Given the description of an element on the screen output the (x, y) to click on. 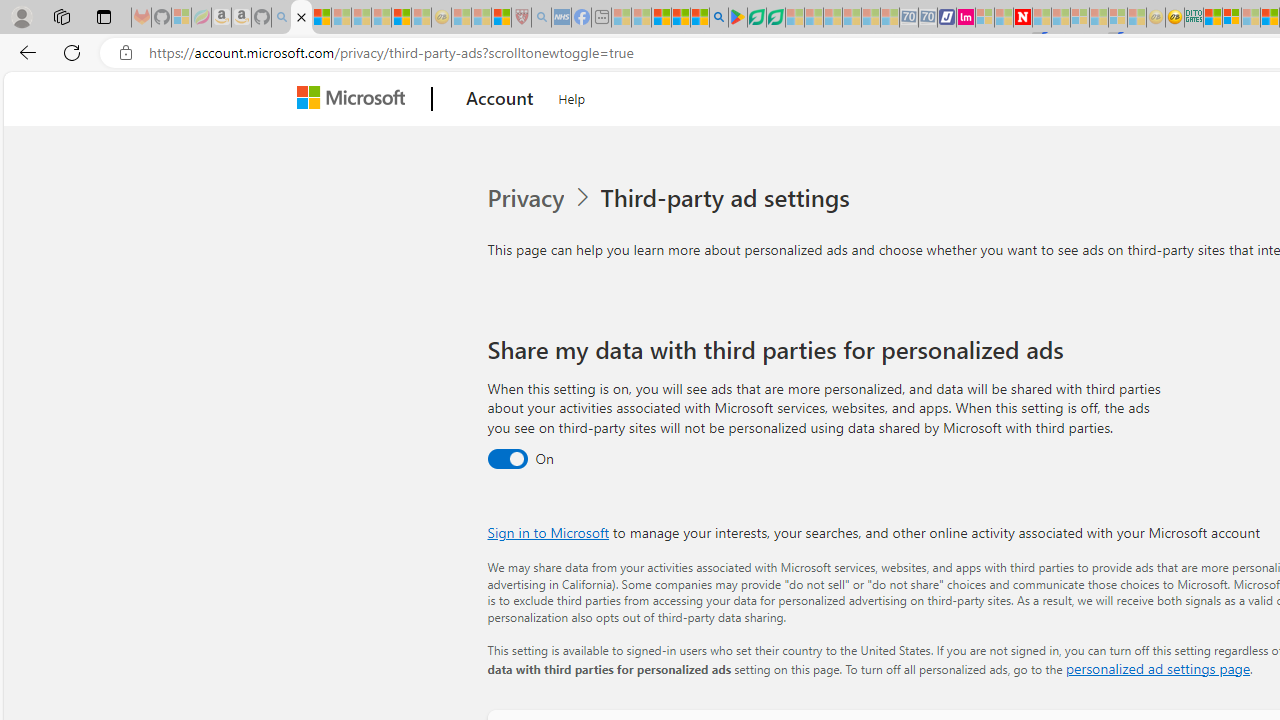
personalized ad settings page (1157, 668)
Jobs - lastminute.com Investor Portal (966, 17)
Bluey: Let's Play! - Apps on Google Play (737, 17)
